Given the description of an element on the screen output the (x, y) to click on. 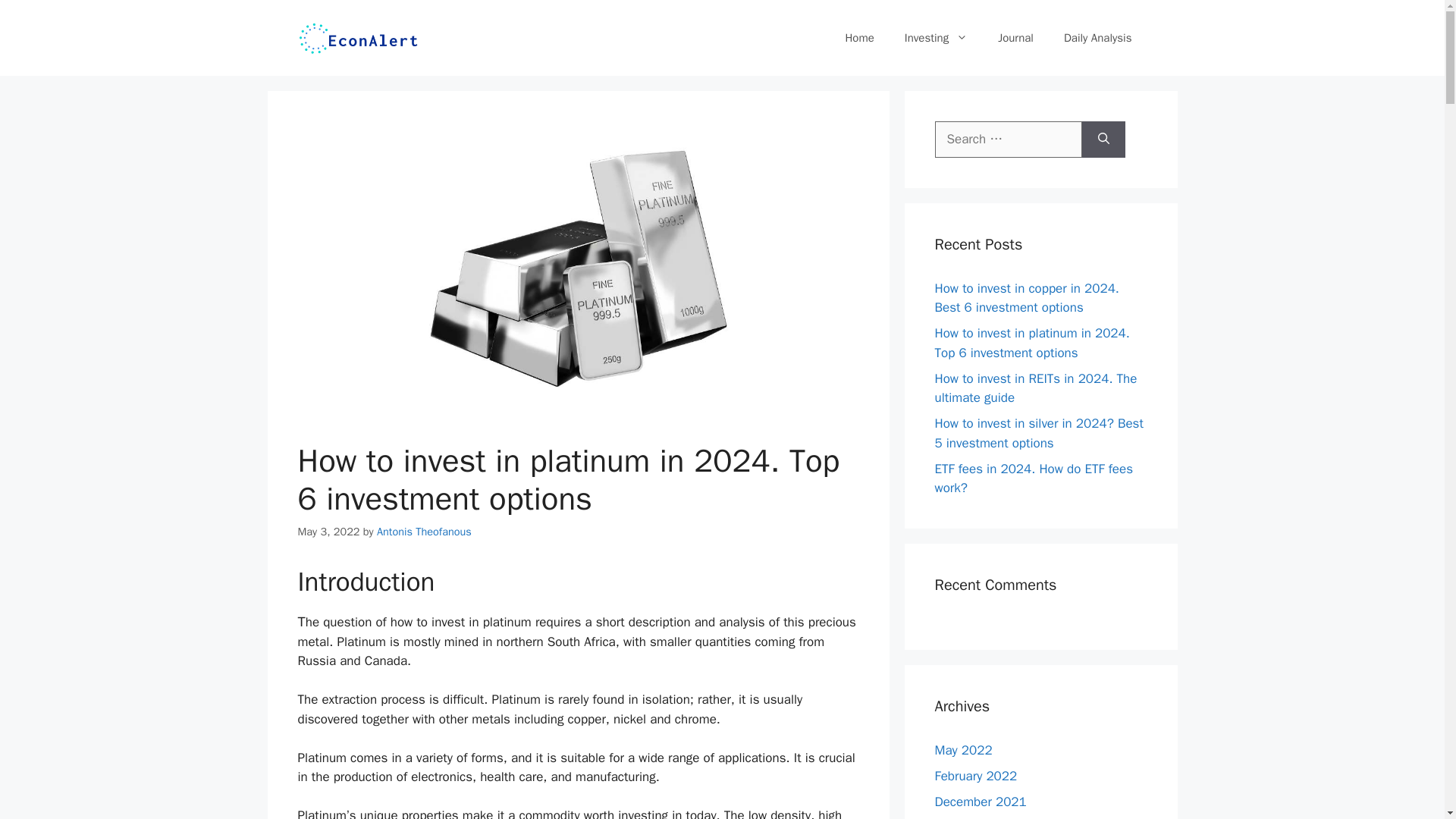
ETF fees in 2024. How do ETF fees work? (1033, 478)
How to invest in REITs in 2024. The ultimate guide (1035, 387)
View all posts by Antonis Theofanous (424, 531)
How to invest in copper in 2024. Best 6 investment options (1026, 298)
Journal (1015, 37)
Search for: (1007, 139)
Home (858, 37)
Investing (935, 37)
May 2022 (962, 749)
Antonis Theofanous (424, 531)
